Given the description of an element on the screen output the (x, y) to click on. 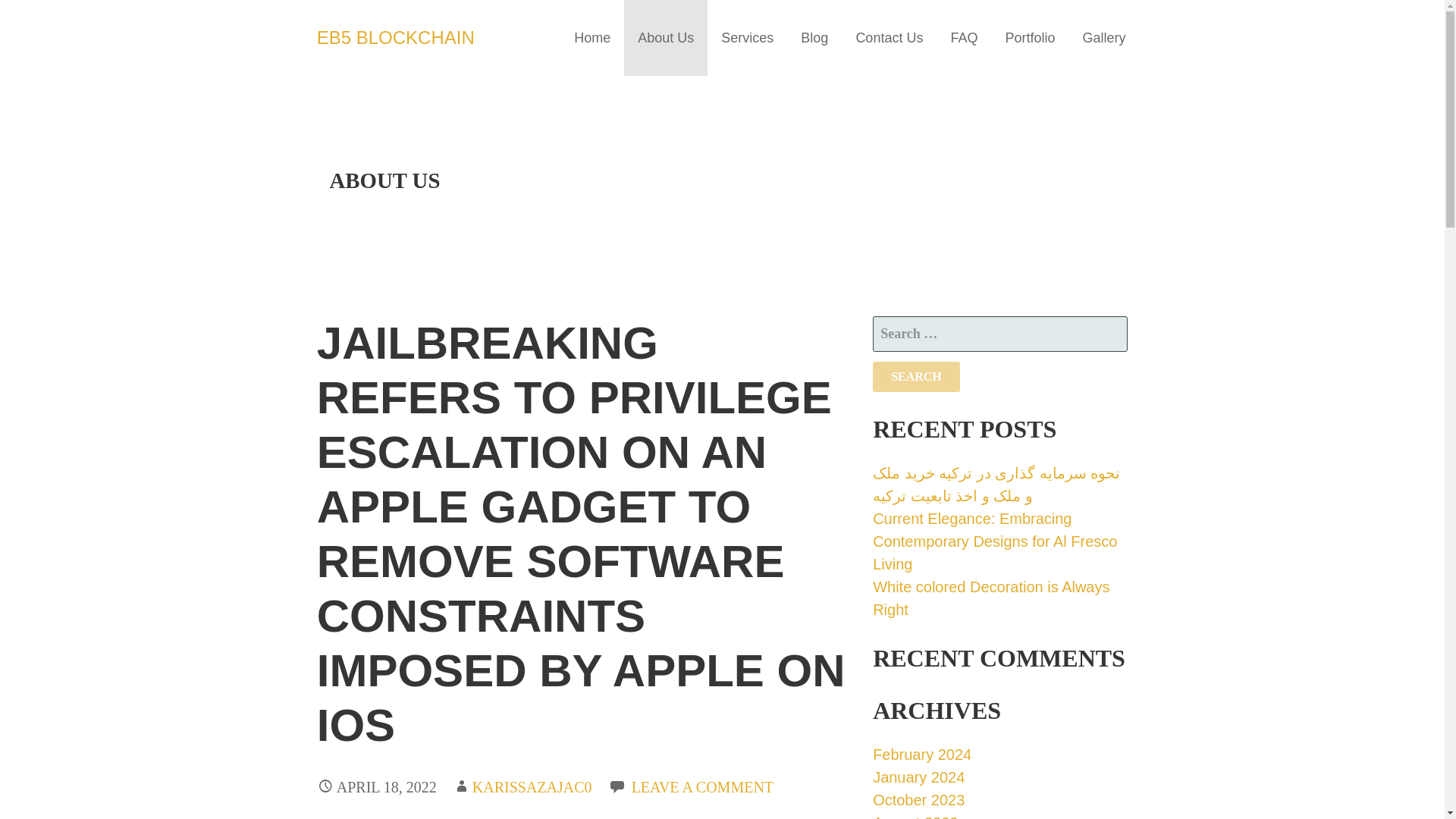
October 2023 (917, 799)
Search (915, 376)
Search (915, 376)
February 2024 (921, 754)
EB5 BLOCKCHAIN (395, 37)
Search (915, 376)
White colored Decoration is Always Right (990, 598)
January 2024 (917, 777)
LEAVE A COMMENT (702, 786)
Gallery (1103, 38)
August 2023 (915, 816)
Services (747, 38)
Contact Us (888, 38)
Portfolio (1029, 38)
